Given the description of an element on the screen output the (x, y) to click on. 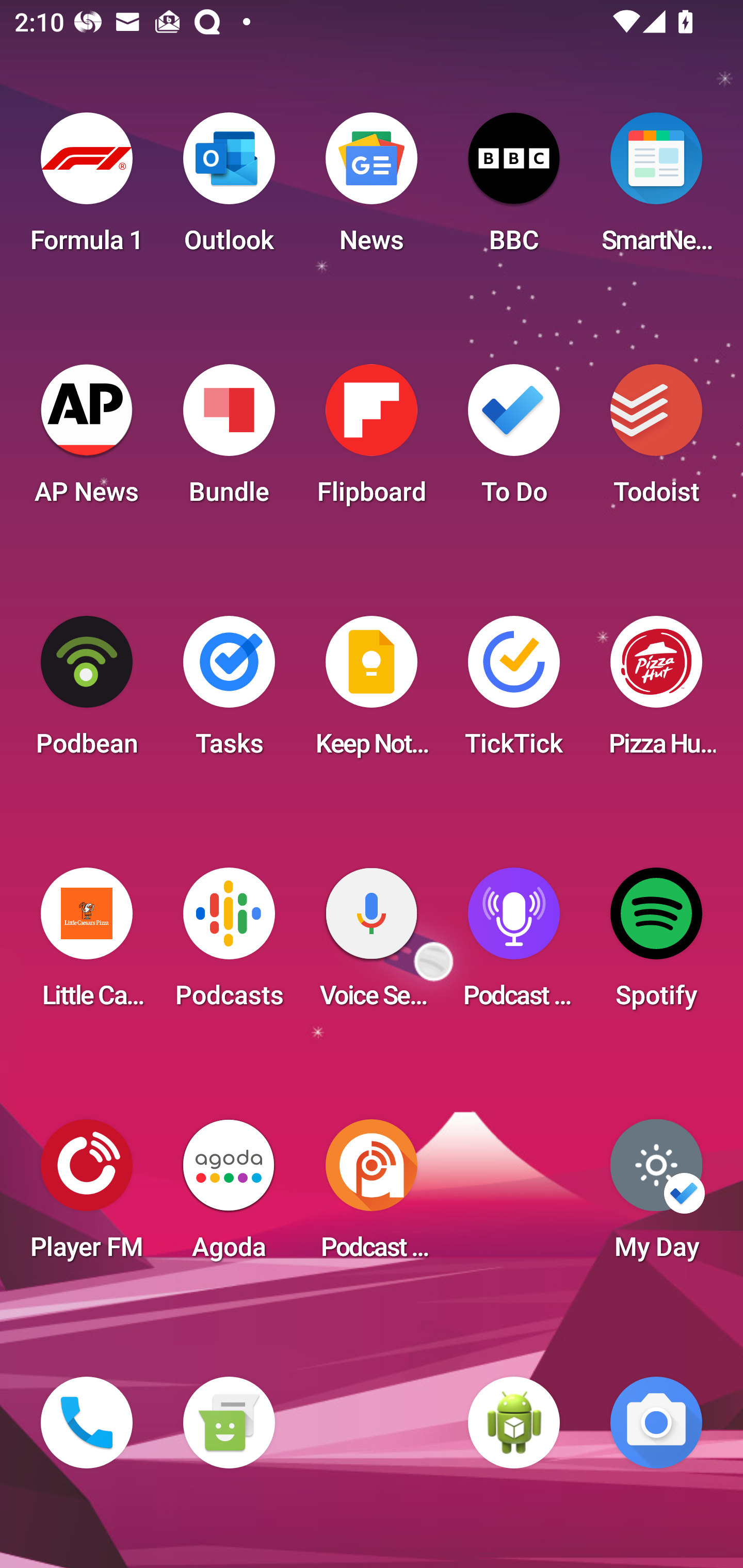
Formula 1 (86, 188)
Outlook (228, 188)
News (371, 188)
BBC (513, 188)
SmartNews (656, 188)
AP News (86, 440)
Bundle (228, 440)
Flipboard (371, 440)
To Do (513, 440)
Todoist (656, 440)
Podbean (86, 692)
Tasks (228, 692)
Keep Notes (371, 692)
TickTick (513, 692)
Pizza Hut HK & Macau (656, 692)
Little Caesars Pizza (86, 943)
Podcasts (228, 943)
Voice Search (371, 943)
Podcast Player (513, 943)
Spotify (656, 943)
Player FM (86, 1195)
Agoda (228, 1195)
Podcast Addict (371, 1195)
My Day (656, 1195)
Phone (86, 1422)
Messaging (228, 1422)
WebView Browser Tester (513, 1422)
Camera (656, 1422)
